Given the description of an element on the screen output the (x, y) to click on. 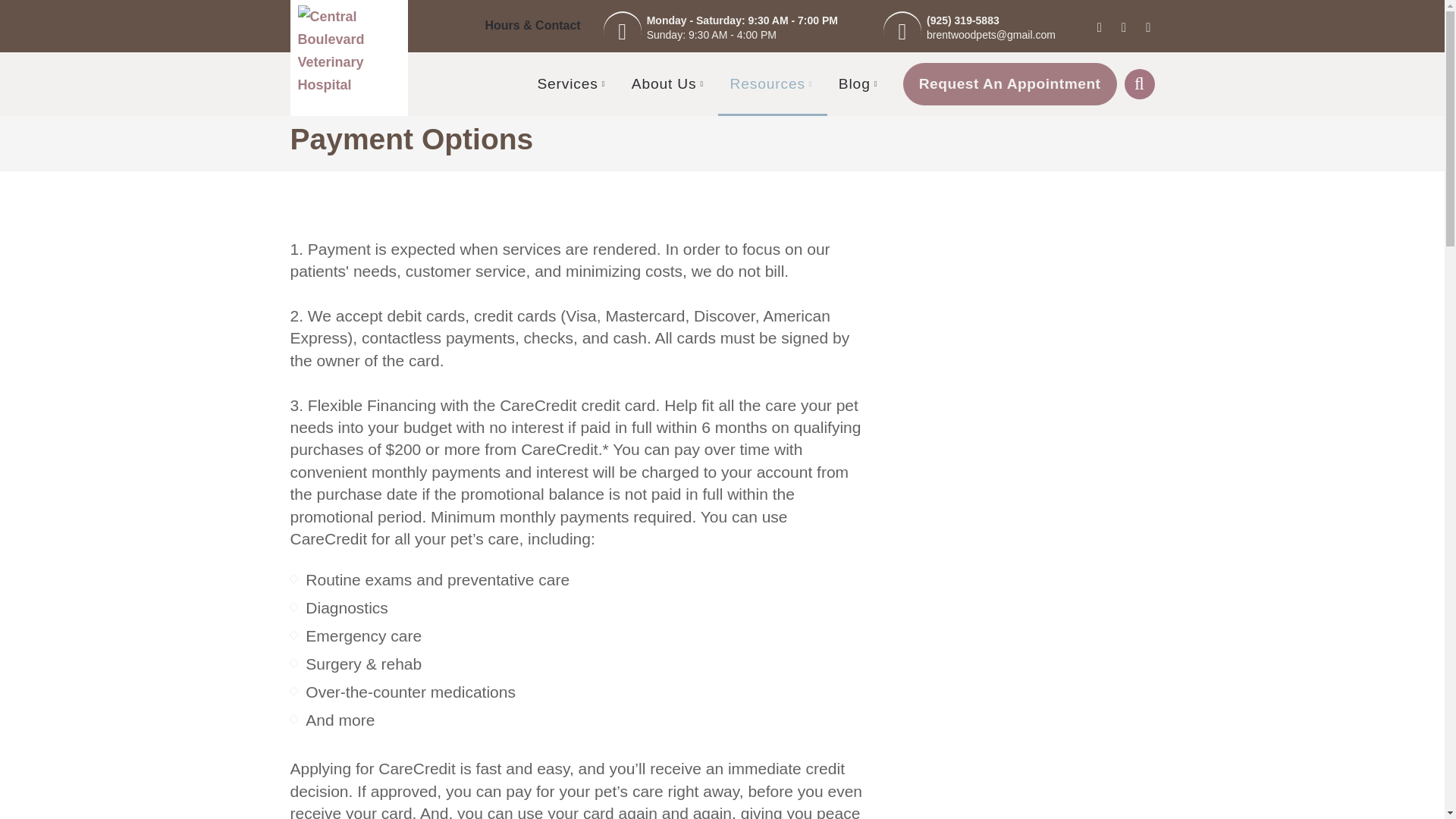
Our Services (572, 84)
Services (572, 84)
youtube (1123, 27)
Home (347, 50)
facebook (1099, 27)
